Given the description of an element on the screen output the (x, y) to click on. 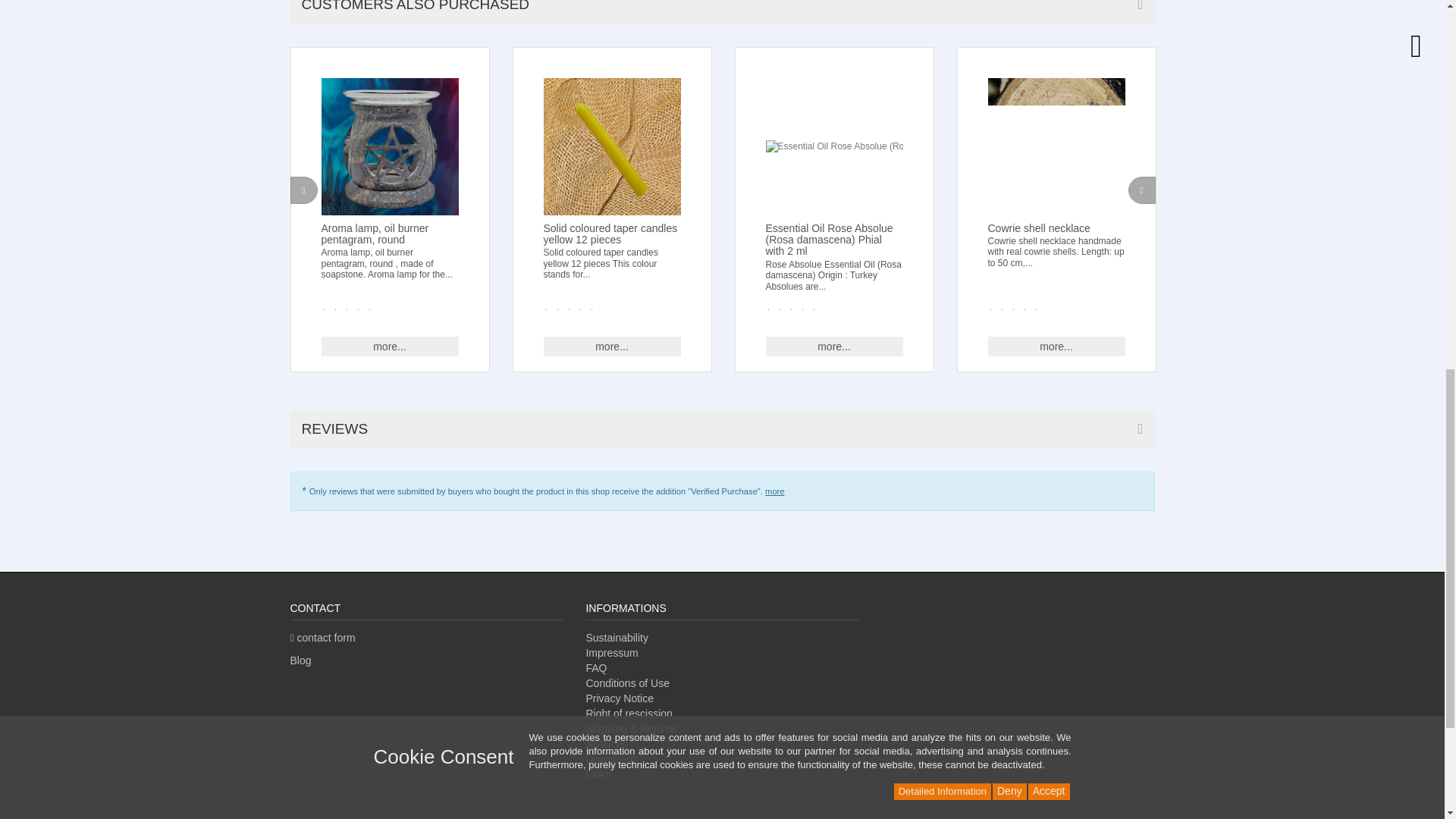
Aroma lamp, oil burner pentagram, round (389, 146)
Cowrie shell necklace (1055, 146)
Solid coloured taper candles yellow 12 pieces (611, 146)
